Given the description of an element on the screen output the (x, y) to click on. 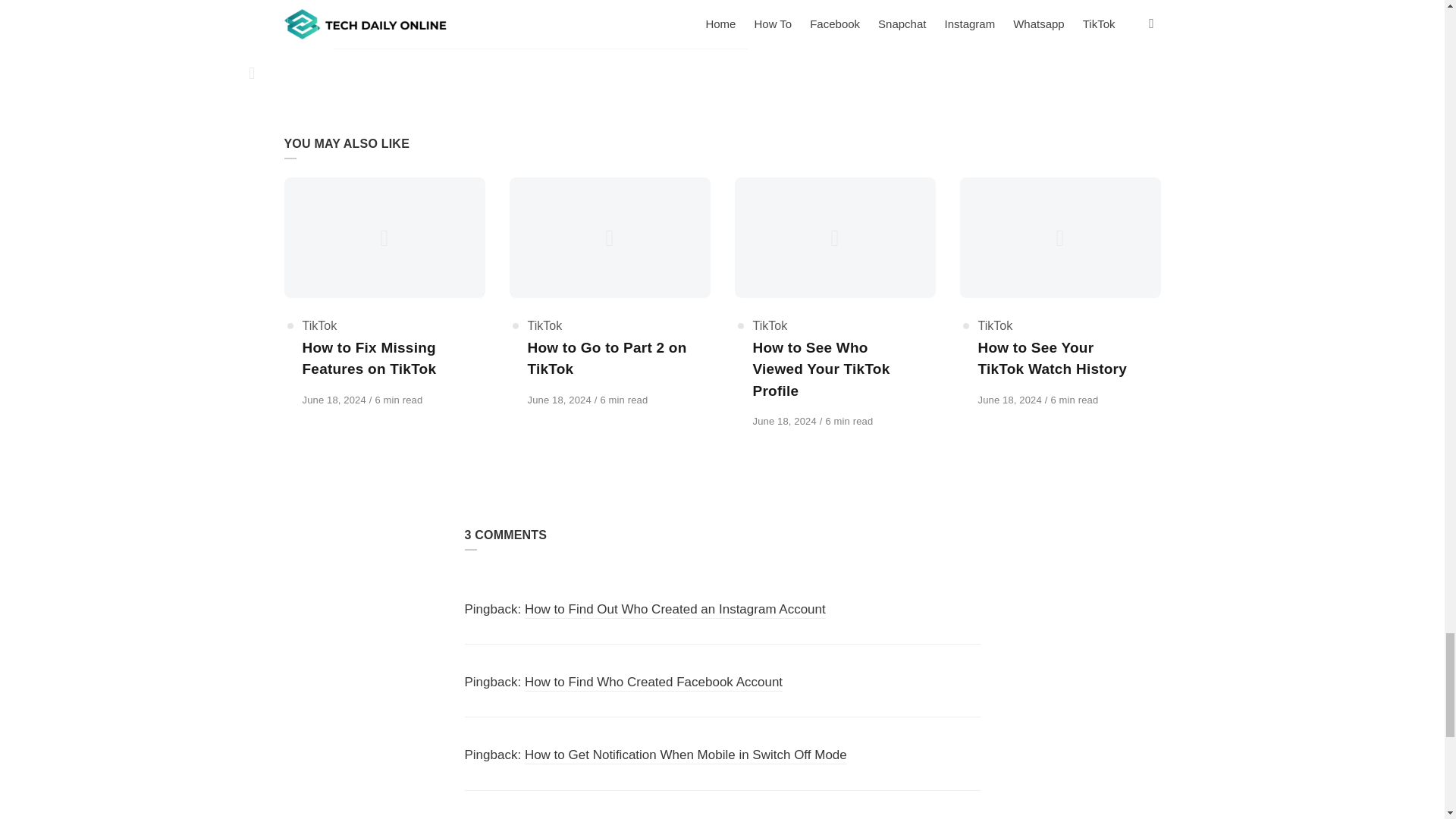
June 18, 2024 (785, 420)
TikTok (318, 325)
June 18, 2024 (334, 399)
How to Fix Profile View History Not Showing on TikTok (496, 2)
June 18, 2024 (334, 399)
June 18, 2024 (1011, 399)
June 18, 2024 (560, 399)
